Given the description of an element on the screen output the (x, y) to click on. 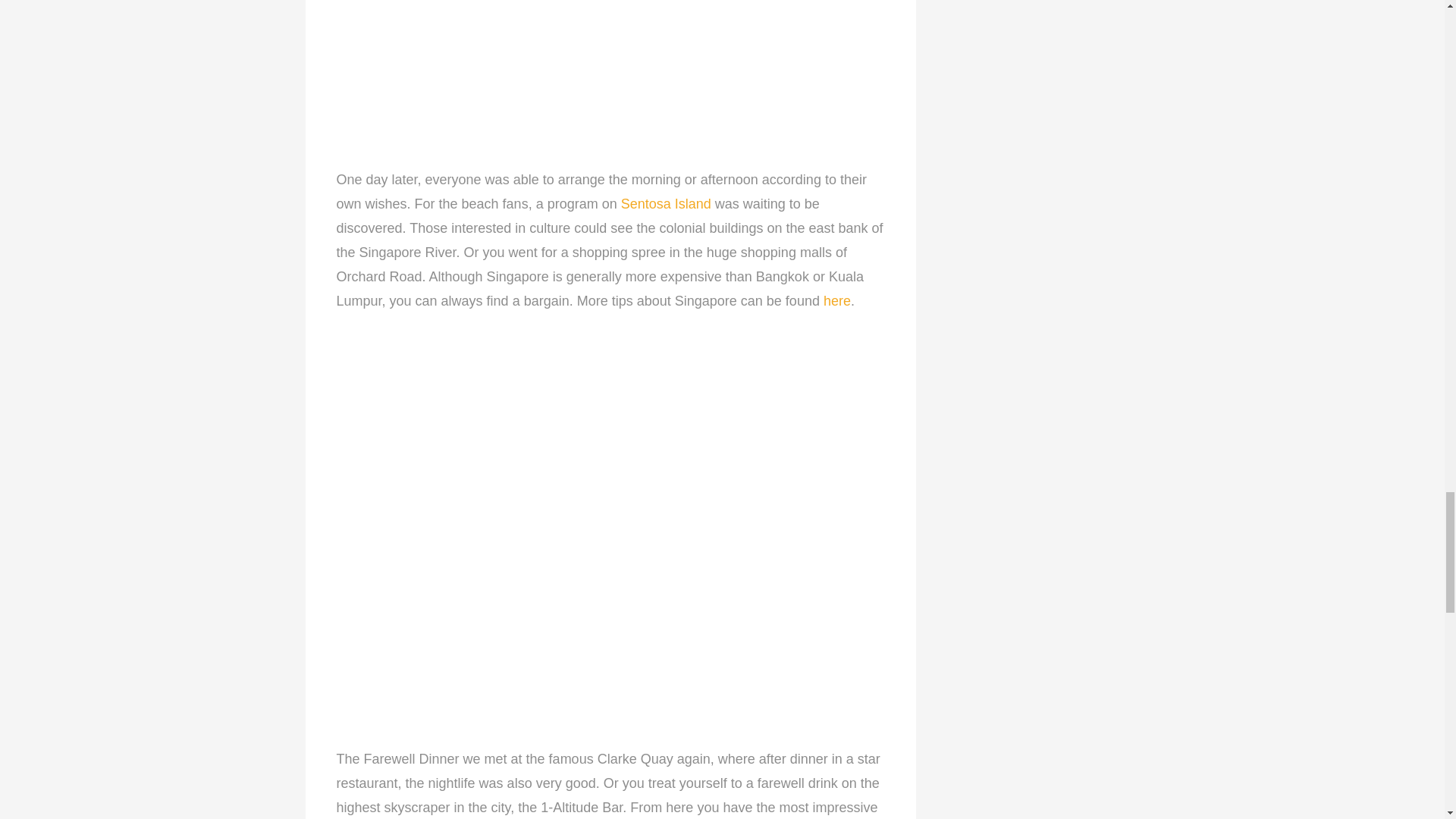
here (837, 299)
Sentosa Island (666, 202)
